Given the description of an element on the screen output the (x, y) to click on. 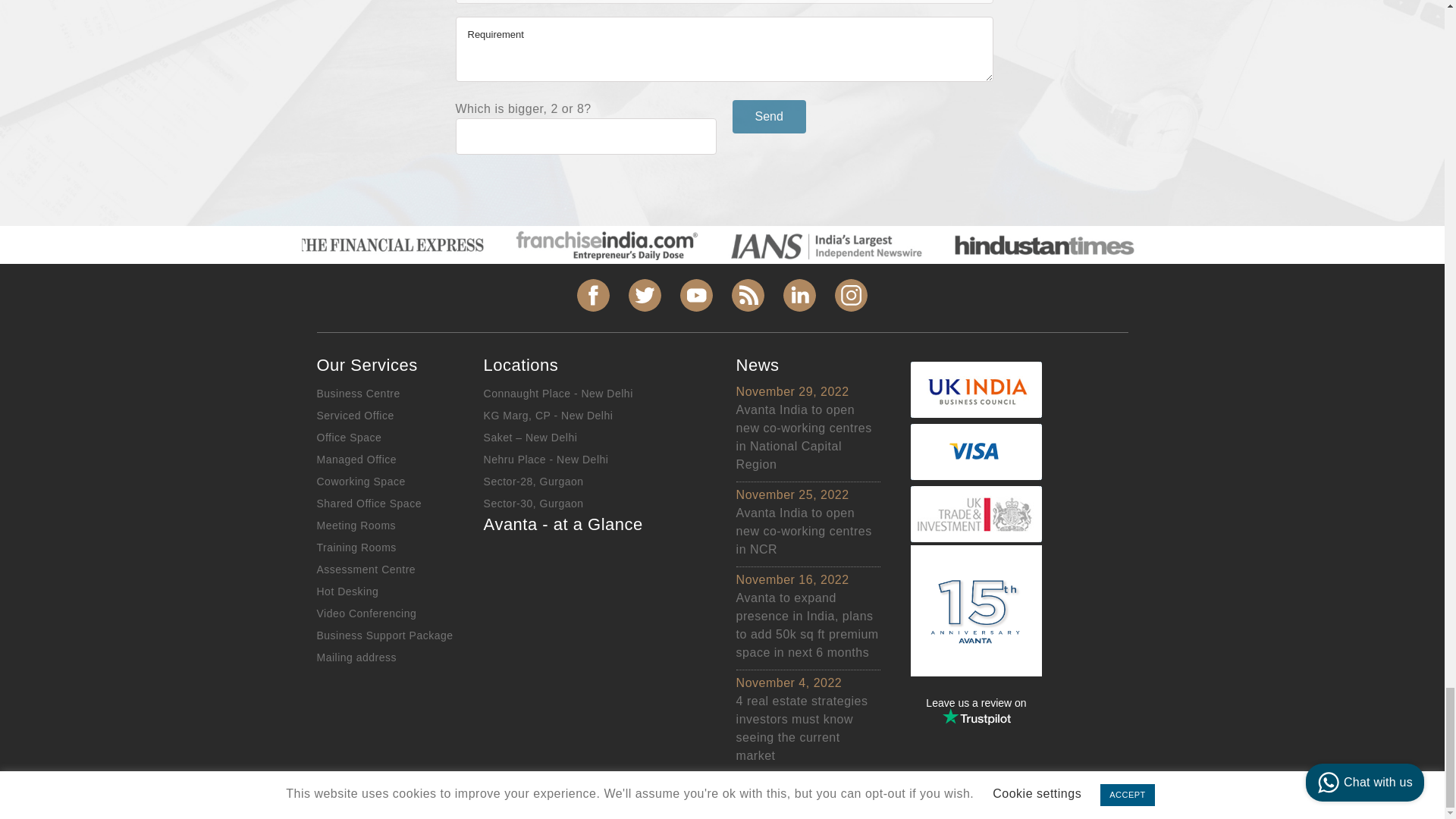
Customer reviews powered by Trustpilot (976, 710)
Send (769, 116)
Avanta - at a Glance (577, 603)
